Given the description of an element on the screen output the (x, y) to click on. 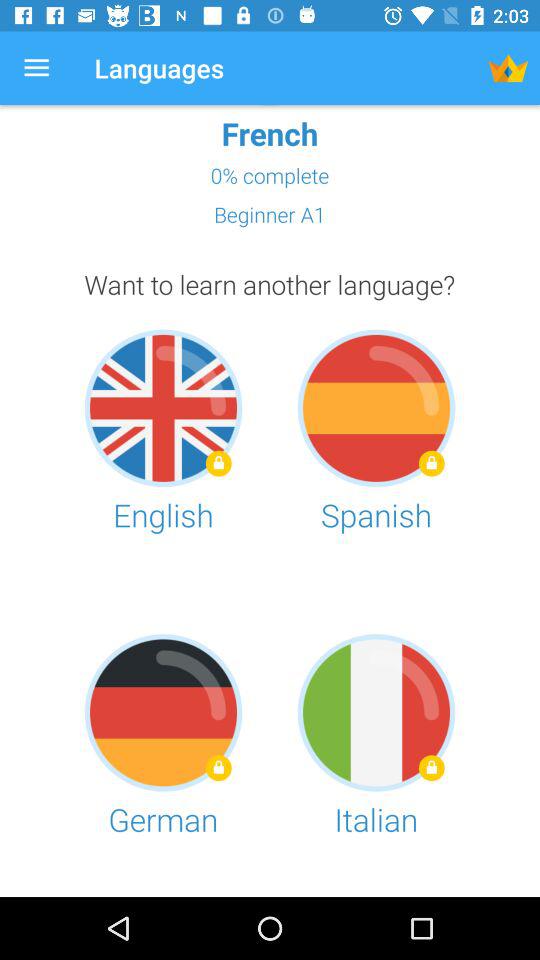
press app to the left of the languages app (36, 68)
